Given the description of an element on the screen output the (x, y) to click on. 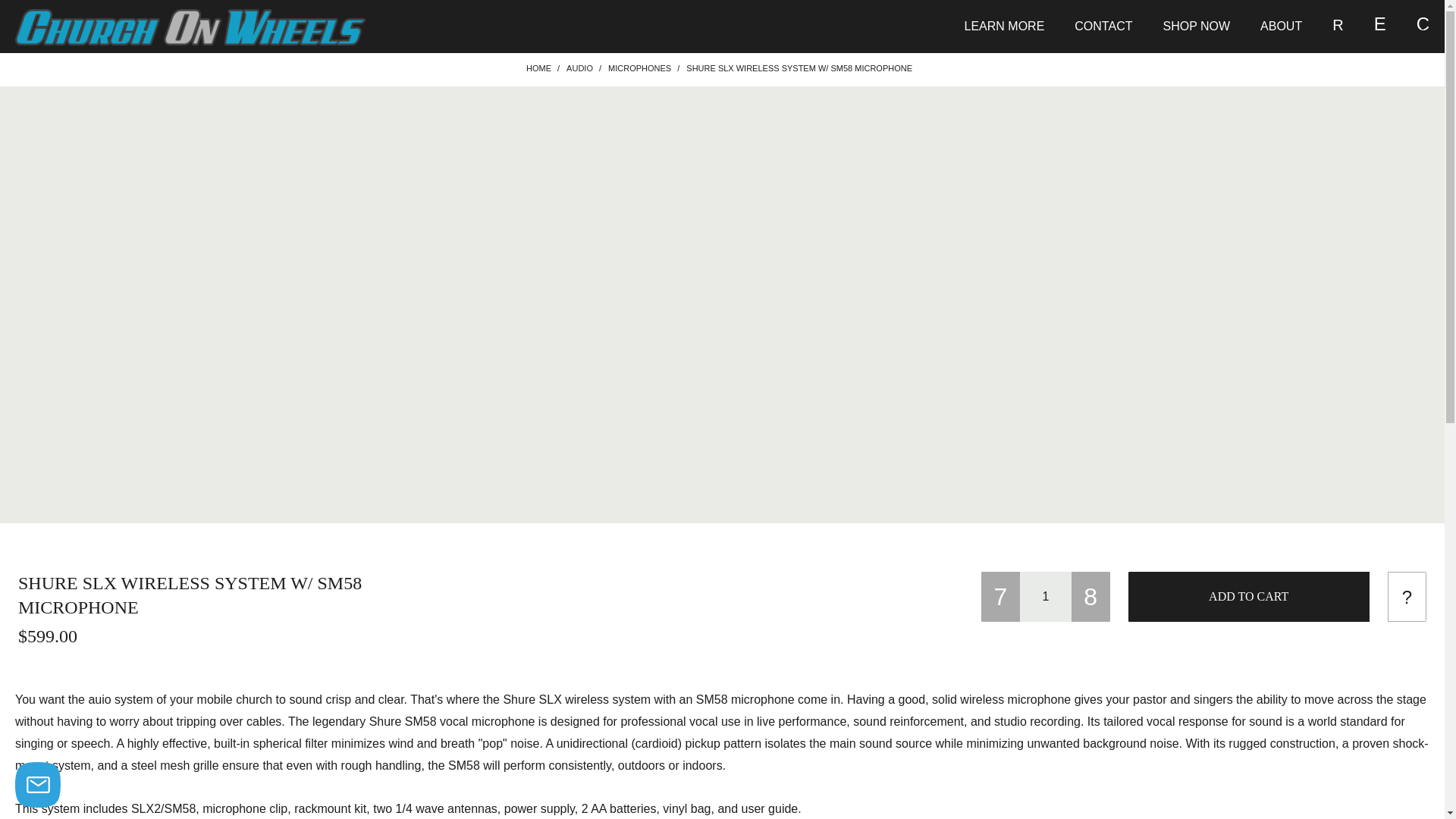
Church On Wheels (189, 26)
Log In (1328, 243)
Church On Wheels (189, 27)
LEARN MORE (1004, 26)
Home (538, 68)
1 (1045, 596)
Add To Cart (1249, 596)
Microphones (639, 68)
Add To Cart (1249, 596)
SHOP NOW (1195, 26)
